Given the description of an element on the screen output the (x, y) to click on. 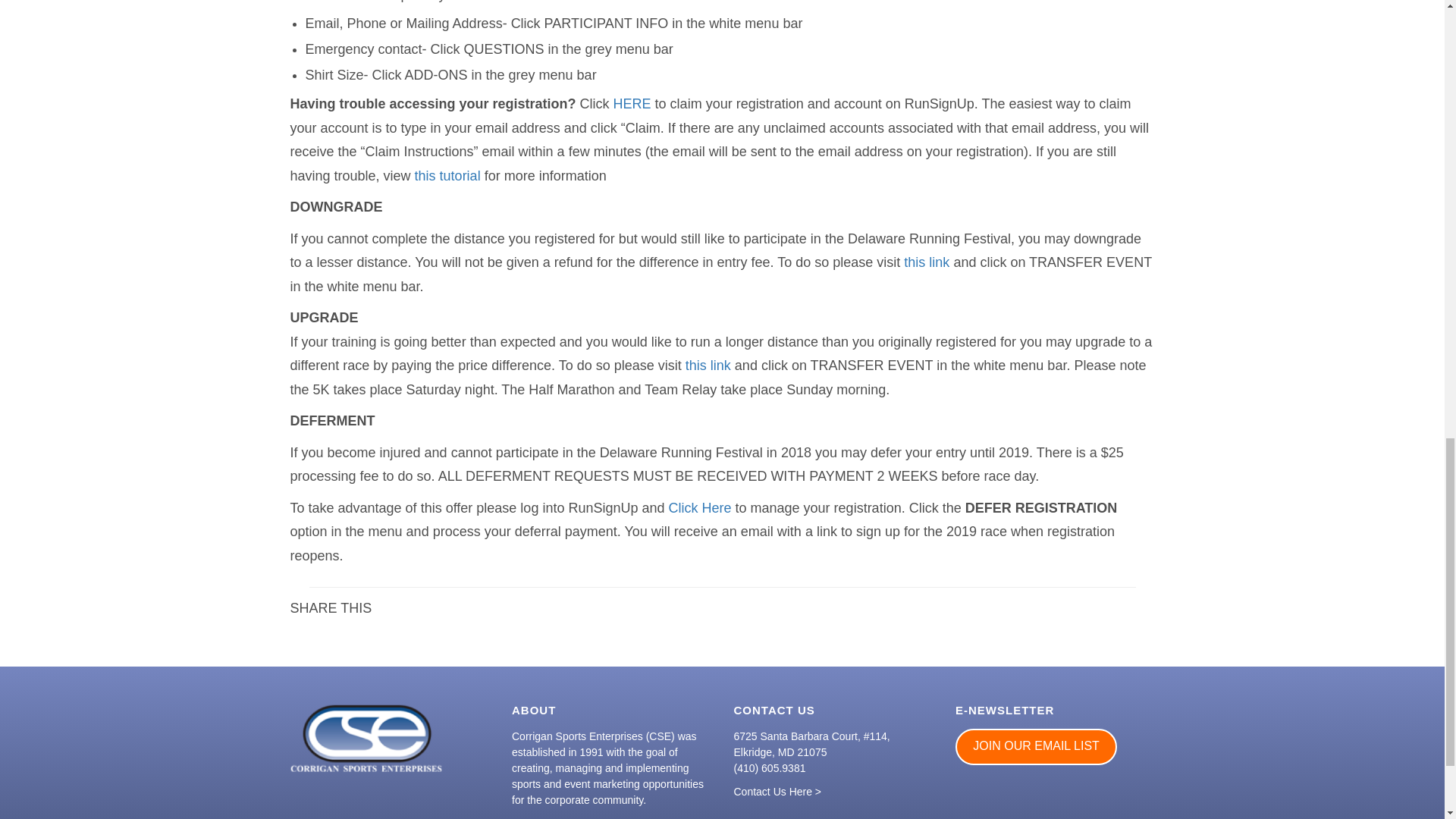
HERE (631, 103)
this tutorial (447, 175)
this link (926, 262)
this link (707, 365)
Click Here (700, 507)
